Given the description of an element on the screen output the (x, y) to click on. 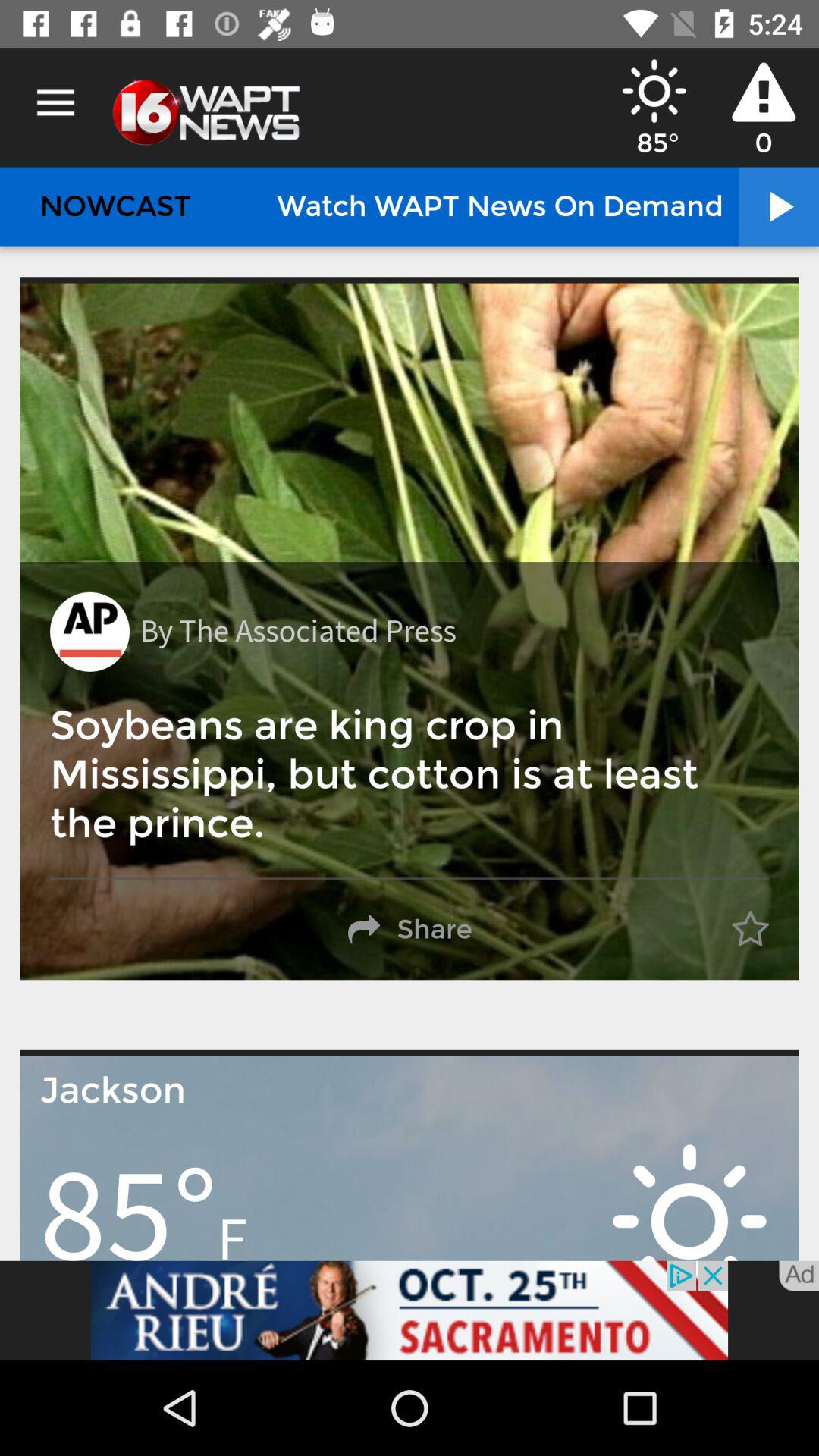
select the add (409, 1310)
